Given the description of an element on the screen output the (x, y) to click on. 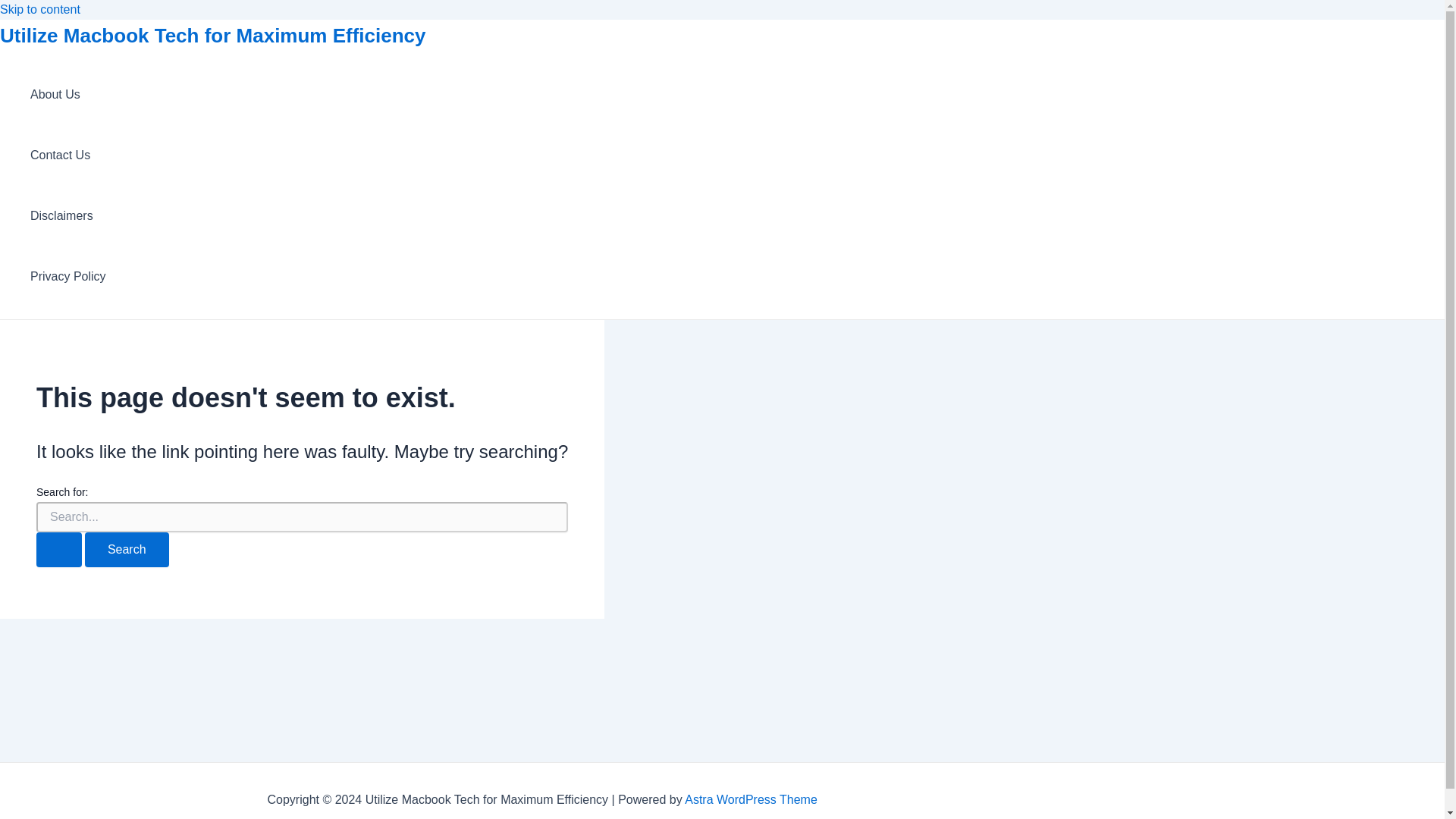
Search (126, 549)
Search (126, 549)
Astra WordPress Theme (750, 799)
Skip to content (40, 9)
Contact Us (68, 155)
Skip to content (40, 9)
Disclaimers (68, 215)
About Us (68, 94)
Utilize Macbook Tech for Maximum Efficiency (213, 35)
Search (126, 549)
Privacy Policy (68, 276)
